Given the description of an element on the screen output the (x, y) to click on. 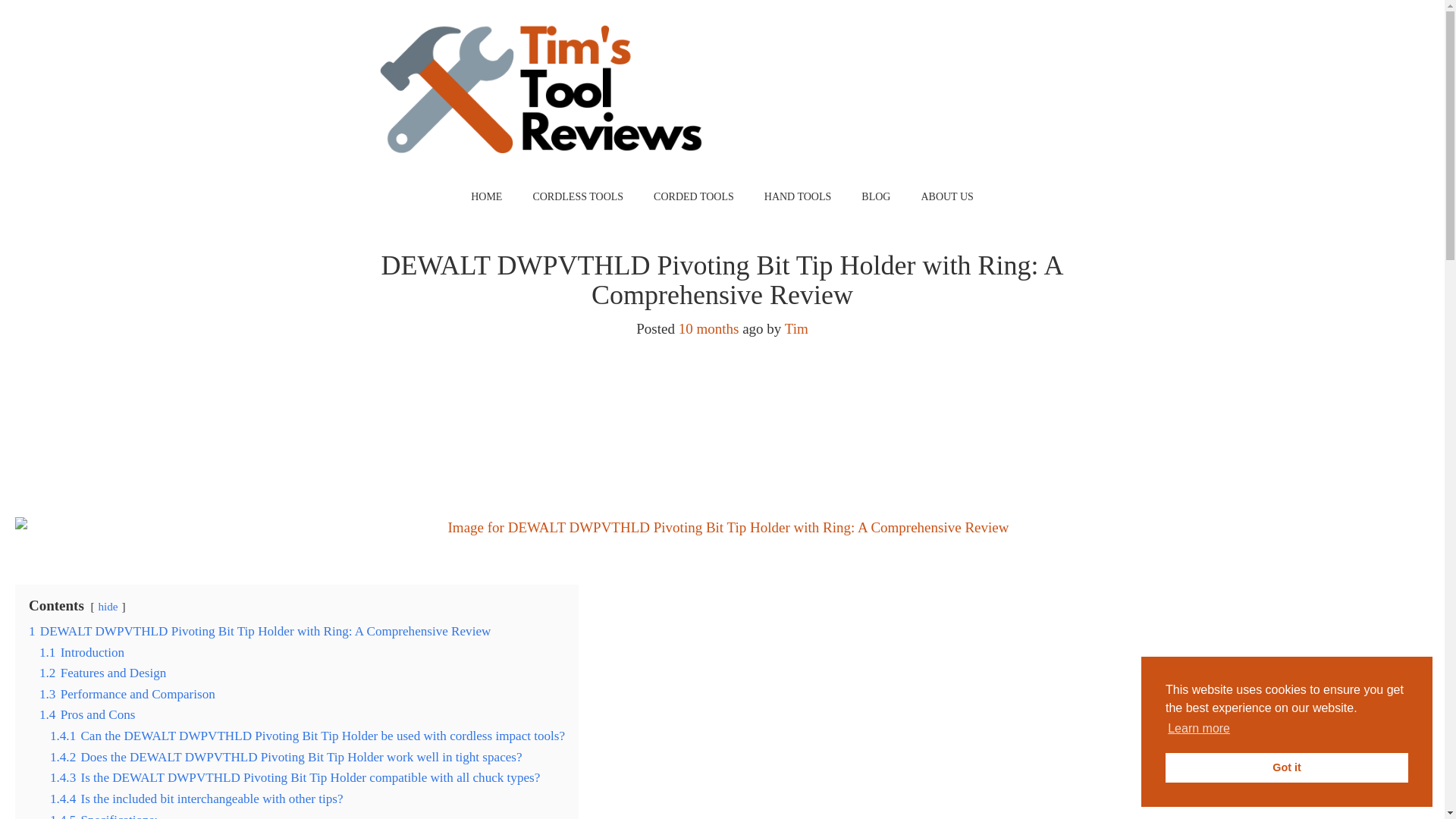
1.4.4 Is the included bit interchangeable with other tips? (196, 798)
ABOUT US (946, 196)
CORDED TOOLS (694, 196)
hide (107, 605)
HAND TOOLS (798, 196)
HOME (485, 196)
BLOG (875, 196)
1.2 Features and Design (102, 672)
1.3 Performance and Comparison (127, 694)
1.4.5 Specifications: (103, 816)
Got it (1286, 767)
